Given the description of an element on the screen output the (x, y) to click on. 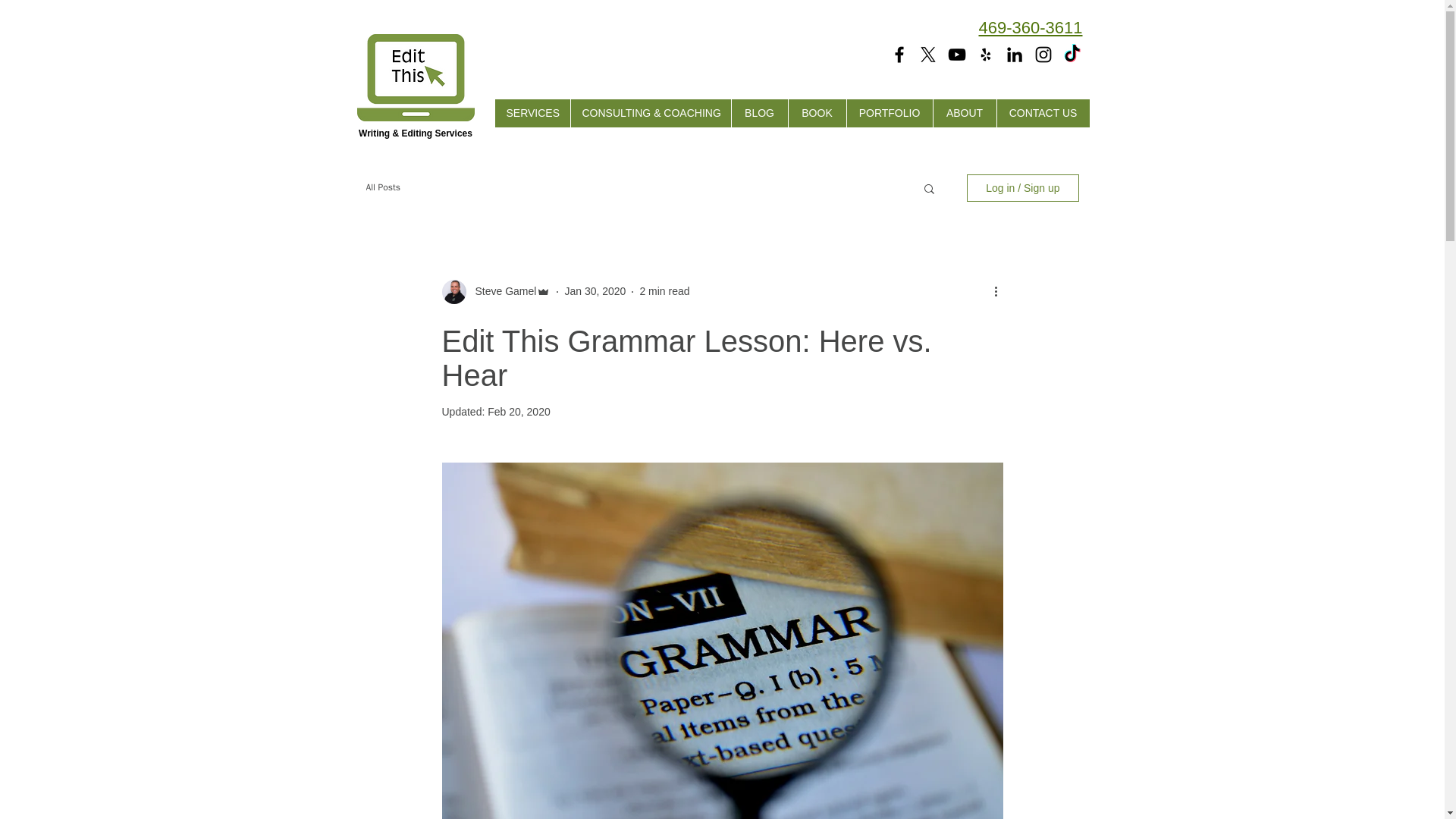
BOOK (816, 113)
BLOG (758, 113)
PORTFOLIO (889, 113)
Jan 30, 2020 (595, 291)
469-360-3611 (1029, 27)
ABOUT (964, 113)
CONTACT US (1042, 113)
Feb 20, 2020 (518, 411)
All Posts (382, 187)
2 min read (663, 291)
SERVICES (532, 113)
Steve Gamel (500, 291)
